Given the description of an element on the screen output the (x, y) to click on. 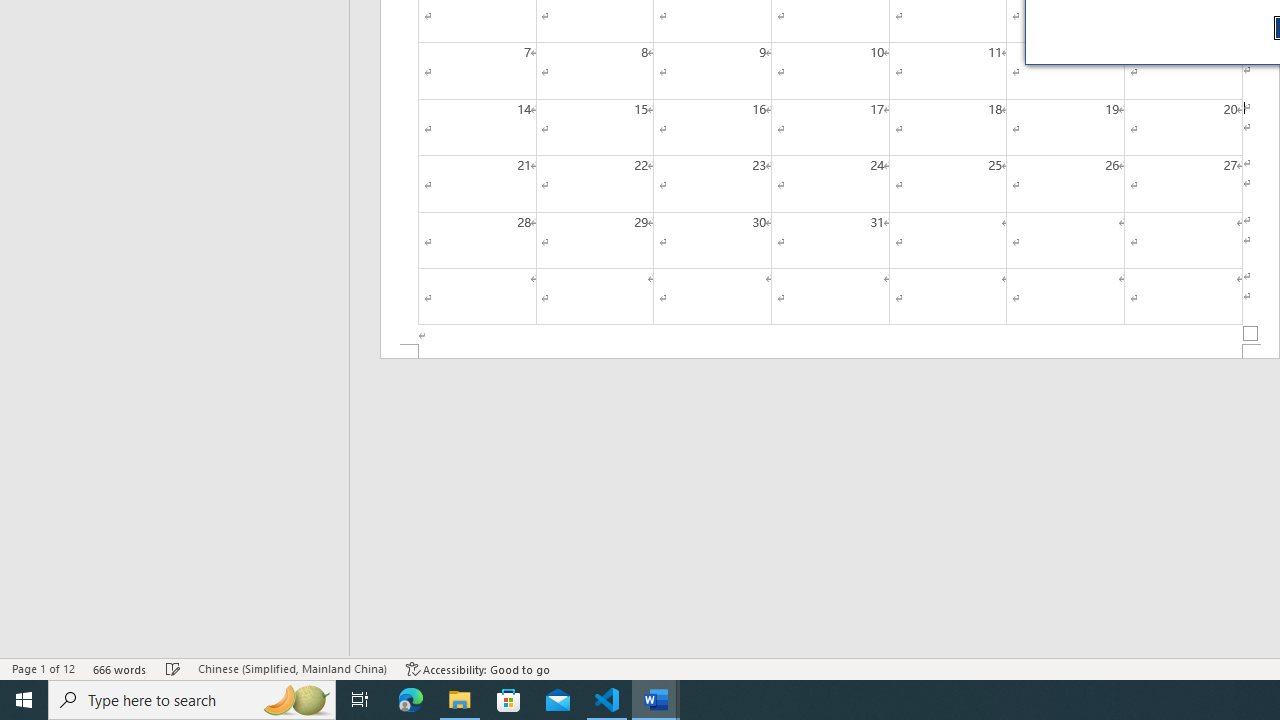
Task View (359, 699)
File Explorer - 1 running window (460, 699)
Type here to search (191, 699)
Microsoft Store (509, 699)
Start (24, 699)
Visual Studio Code - 1 running window (607, 699)
Page Number Page 1 of 12 (43, 668)
Accessibility Checker Accessibility: Good to go (478, 668)
Word Count 666 words (119, 668)
Word - 2 running windows (656, 699)
Footer -Section 1- (830, 351)
Microsoft Edge (411, 699)
Spelling and Grammar Check Checking (173, 668)
